Given the description of an element on the screen output the (x, y) to click on. 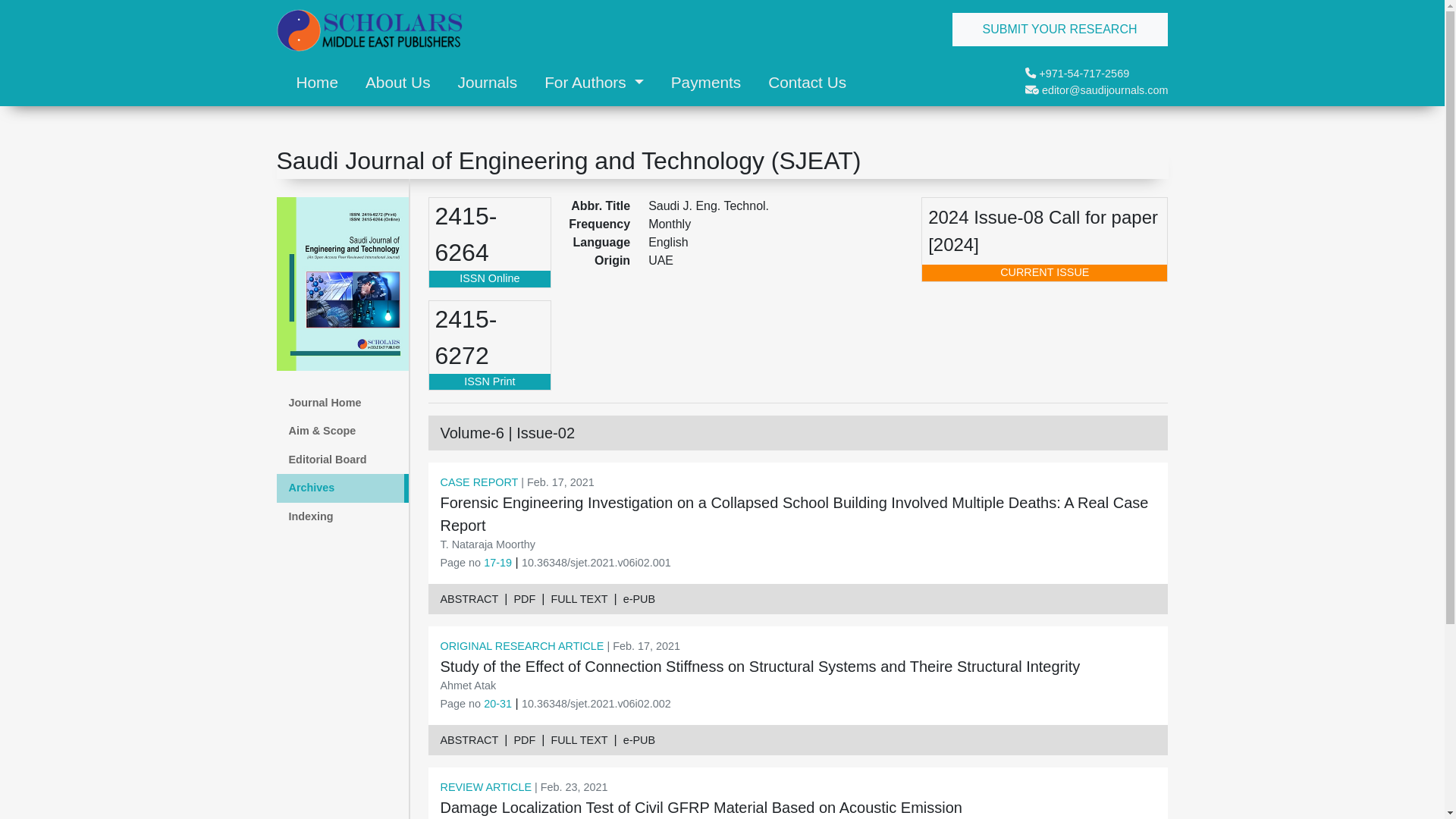
PDF (524, 740)
e-PUB (639, 599)
ABSTRACT (468, 740)
Editorial Board (341, 460)
Payments (705, 81)
For Authors (593, 81)
Journal Home (341, 403)
e-PUB (639, 740)
Contact Us (806, 81)
Journals (487, 81)
